Given the description of an element on the screen output the (x, y) to click on. 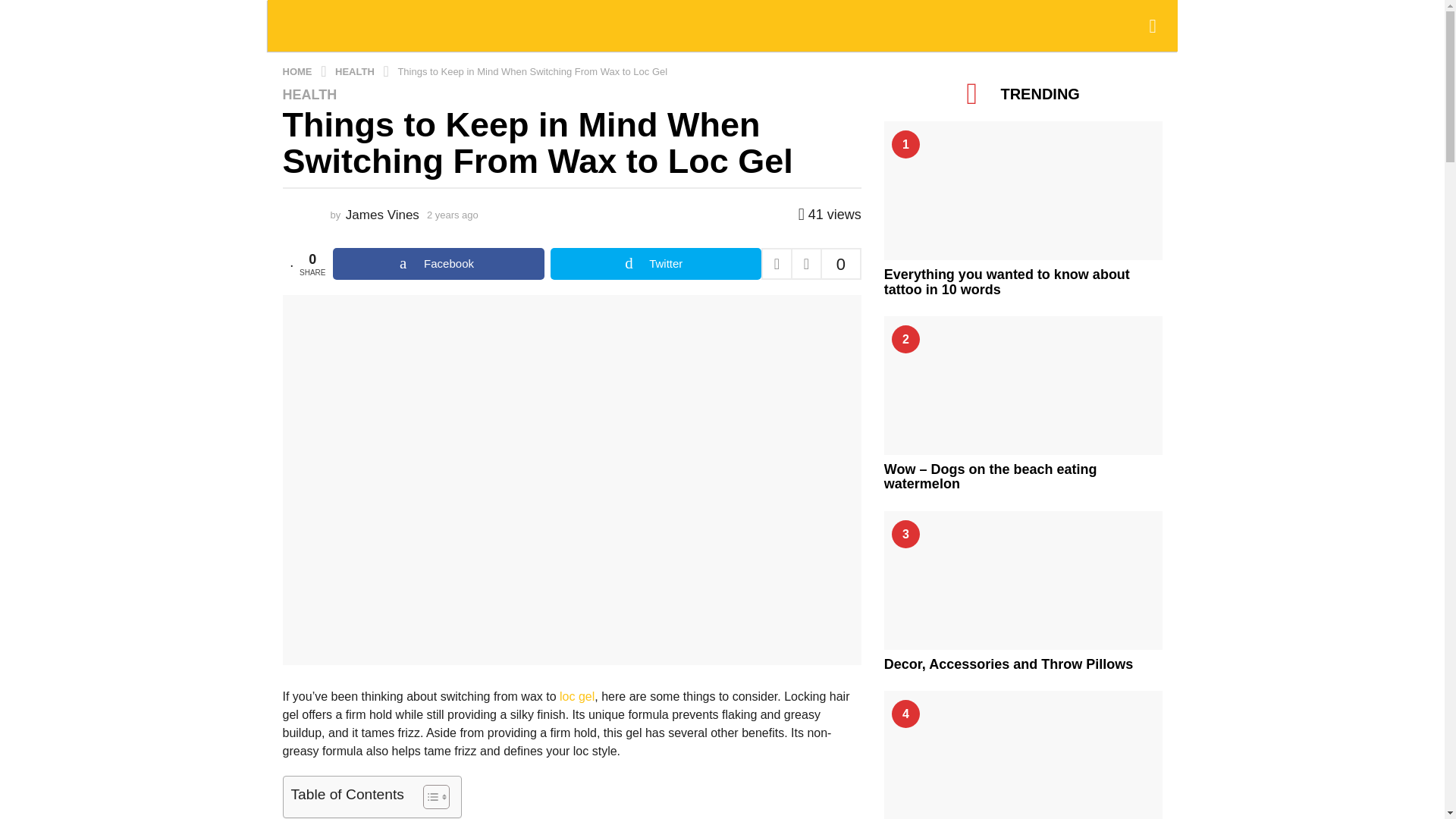
Twitter (655, 264)
James Vines (382, 214)
loc gel (576, 696)
HEALTH (355, 70)
HOME (298, 70)
Things to Keep in Mind When Switching From Wax to Loc Gel (531, 70)
HEALTH (309, 94)
Share on Facebook (438, 264)
Facebook (438, 264)
Share on Twitter (655, 264)
